Given the description of an element on the screen output the (x, y) to click on. 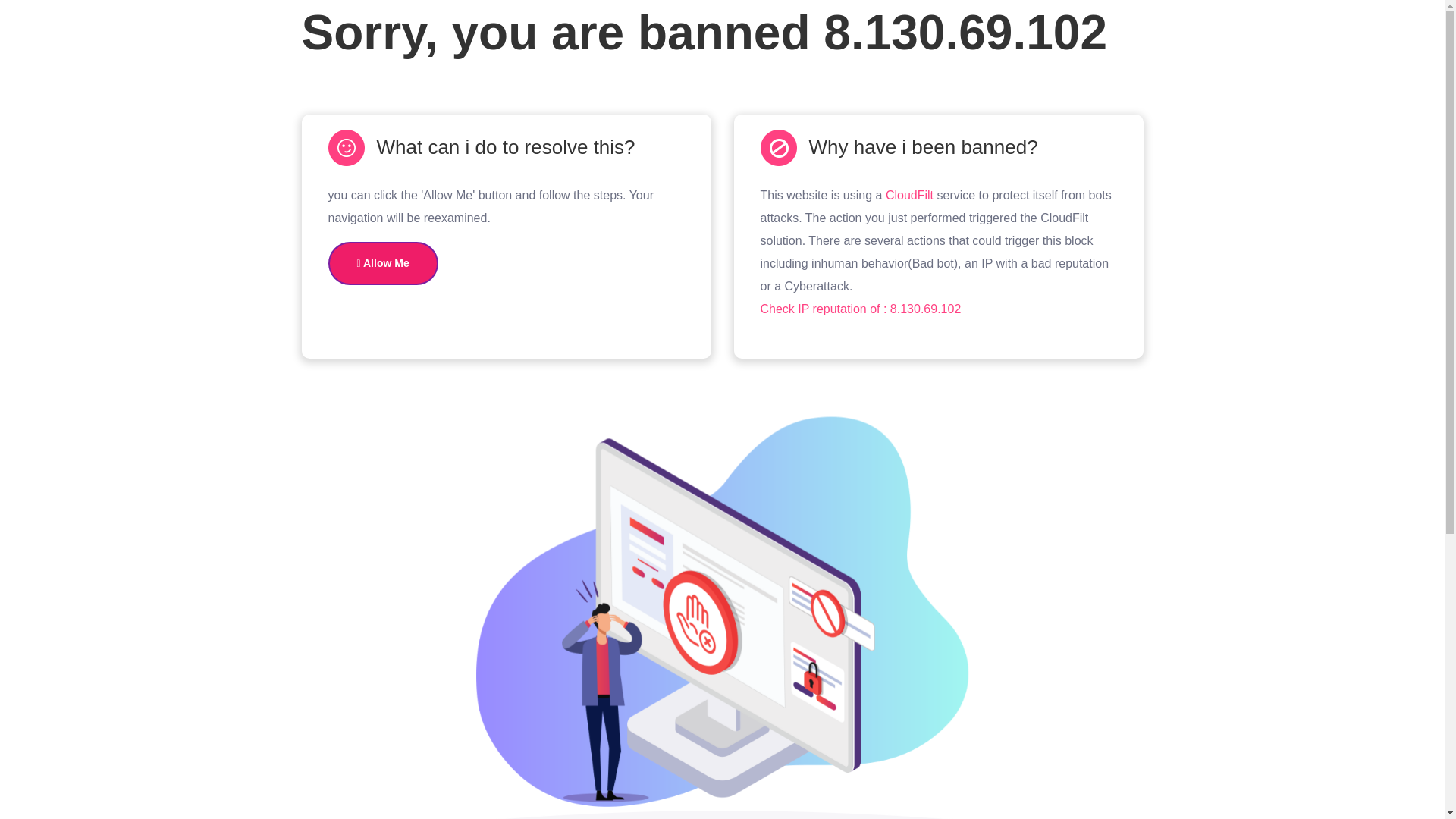
Check IP reputation of : 8.130.69.102 (860, 308)
Allow Me (382, 263)
CloudFilt (909, 195)
